Given the description of an element on the screen output the (x, y) to click on. 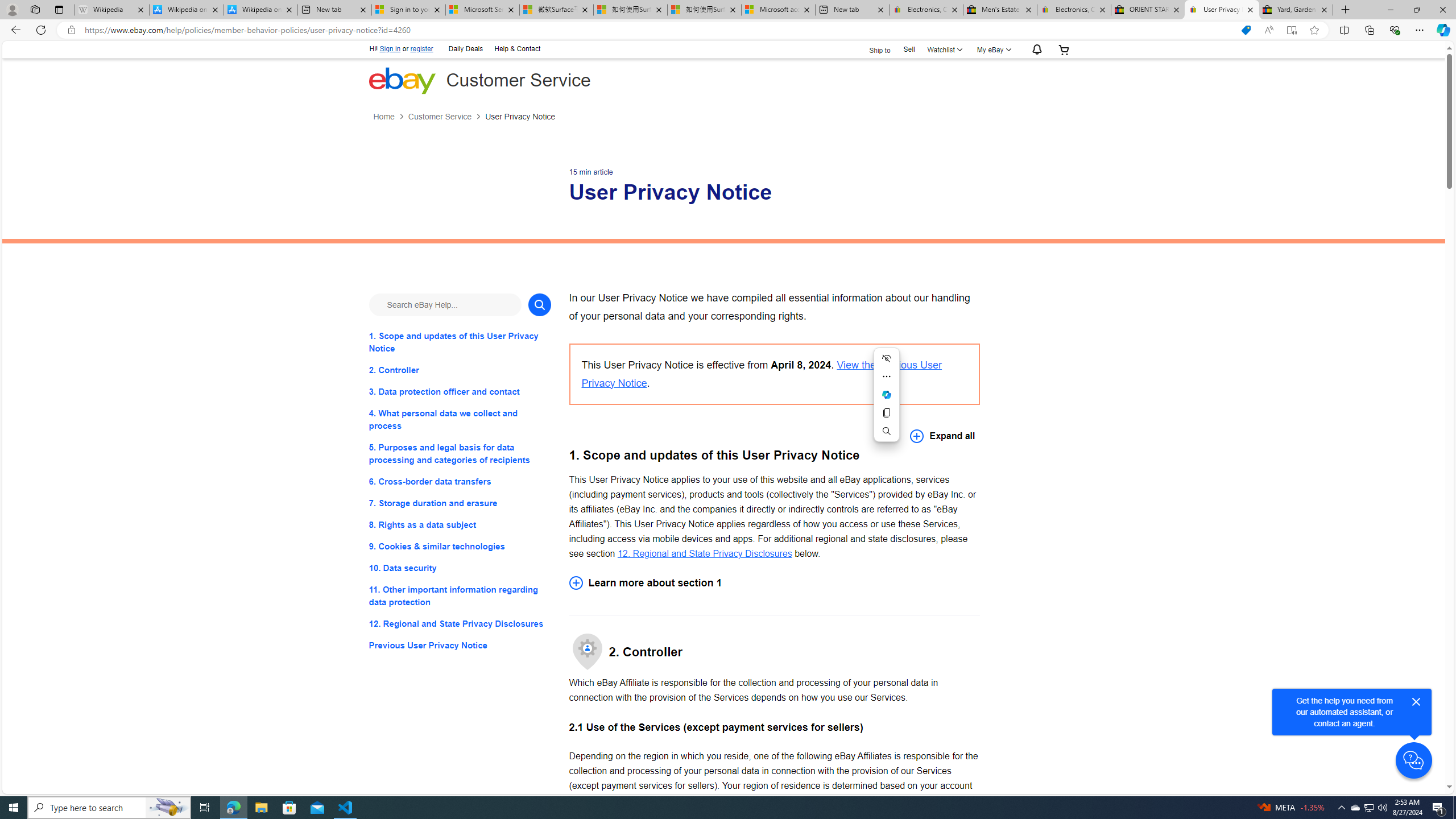
2. Controller (459, 369)
6. Cross-border data transfers (459, 481)
Hide menu (886, 357)
6. Cross-border data transfers (459, 481)
9. Cookies & similar technologies (459, 546)
eBay Home (401, 80)
Daily Deals (465, 49)
11. Other important information regarding data protection (459, 596)
Customer Service (439, 117)
